Given the description of an element on the screen output the (x, y) to click on. 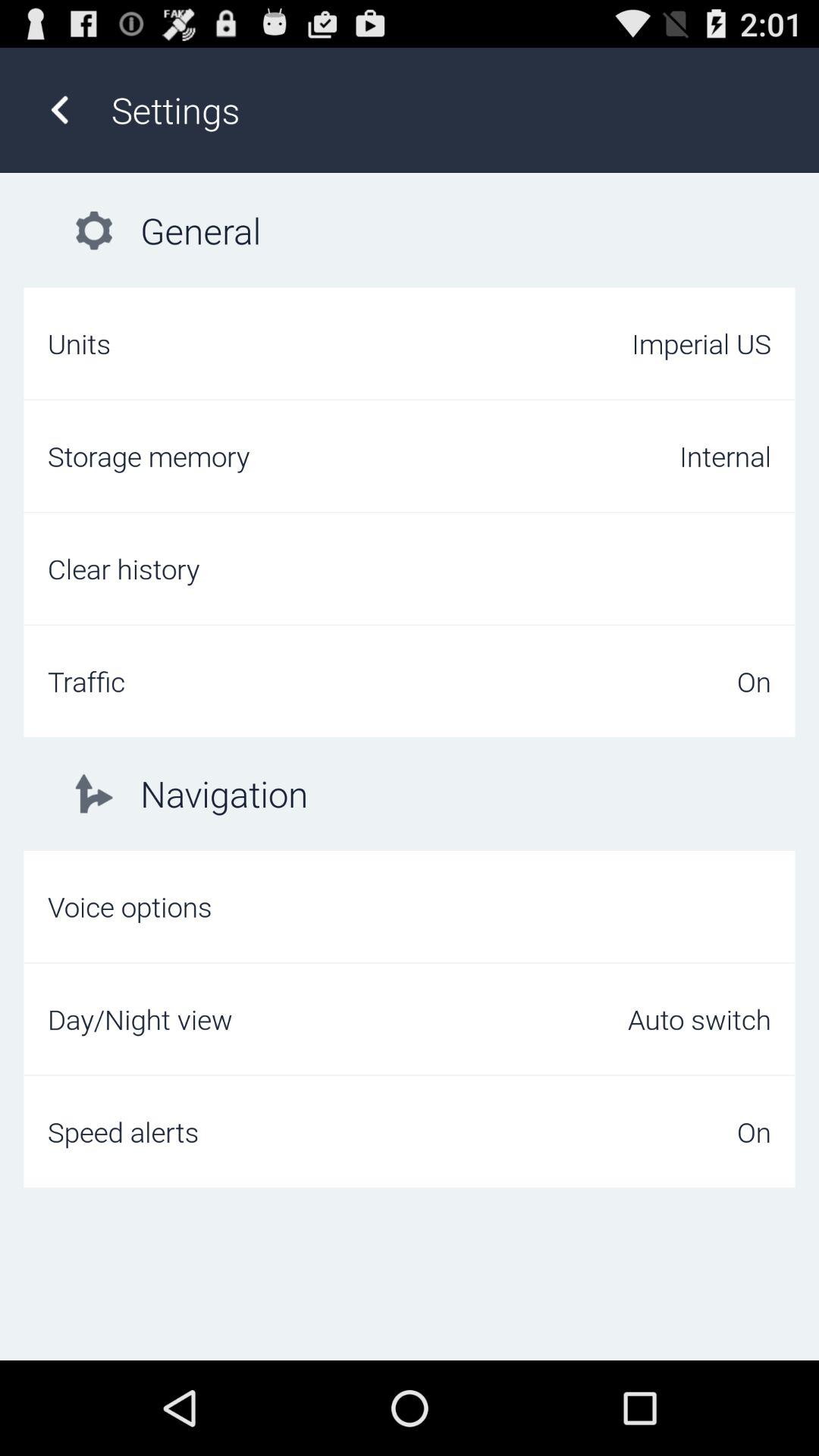
flip until the settings (449, 109)
